Given the description of an element on the screen output the (x, y) to click on. 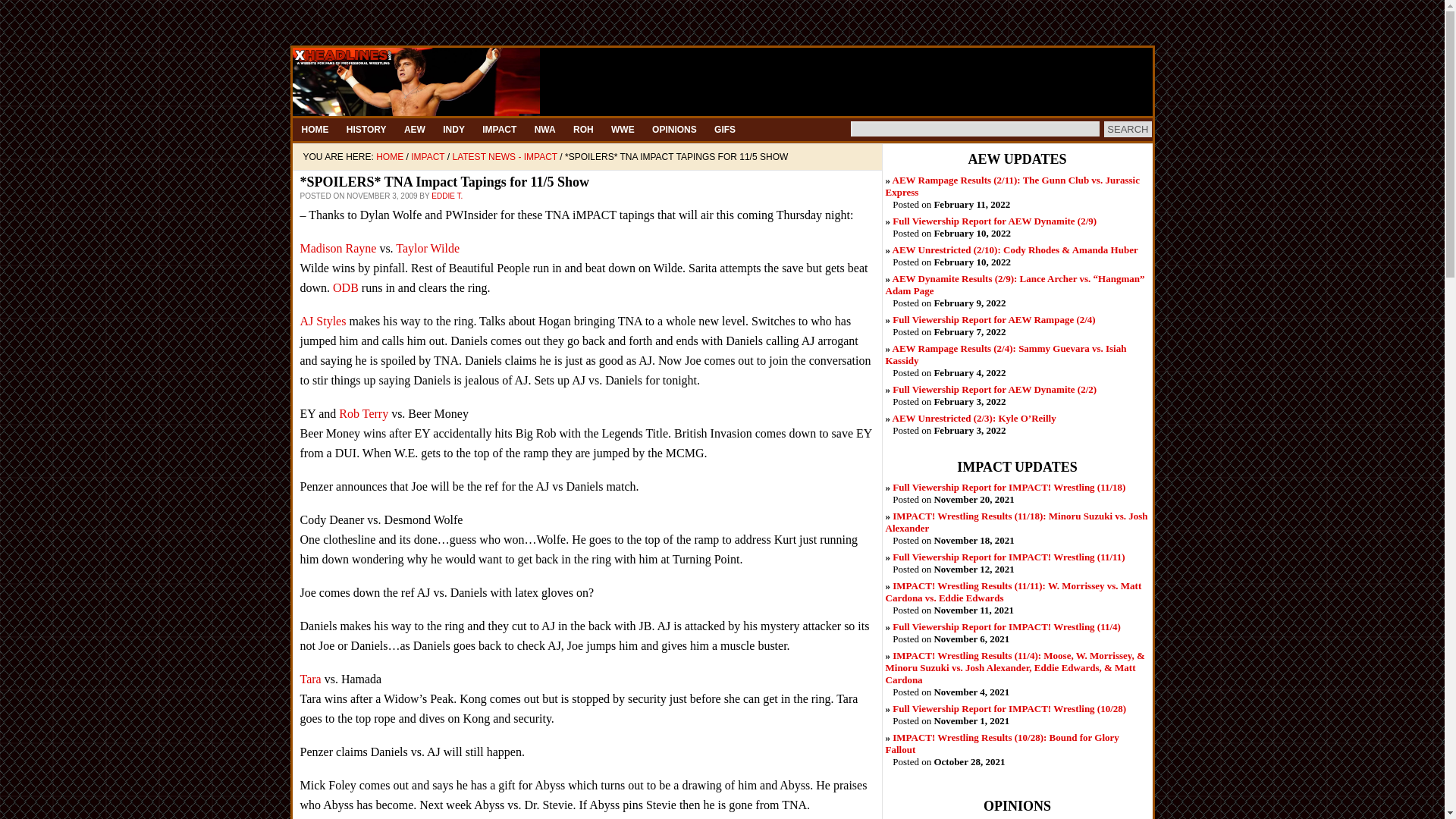
NWA (544, 128)
February 3, 2022 (974, 418)
GIFS (724, 128)
WWE (622, 128)
OPINIONS (674, 128)
HOME (314, 128)
ROH (583, 128)
IMPACT (499, 128)
XHEADLINES.COM (722, 81)
